Given the description of an element on the screen output the (x, y) to click on. 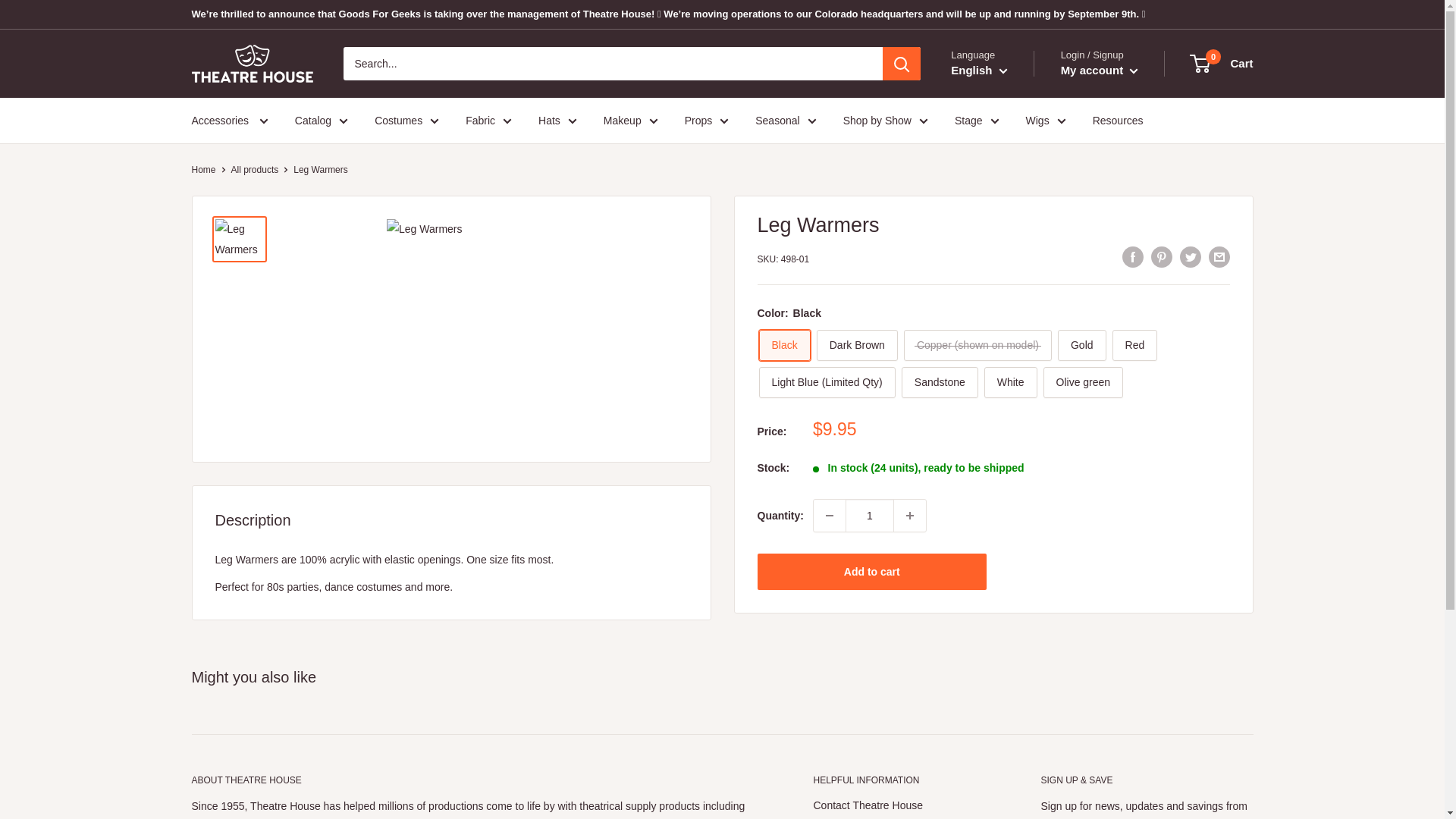
Black (783, 345)
Olive green (1083, 382)
Decrease quantity by 1 (829, 515)
Red (1134, 345)
Sandstone (939, 382)
Increase quantity by 1 (909, 515)
Gold (1082, 345)
White (1010, 382)
Dark Brown (857, 345)
1 (869, 515)
